Given the description of an element on the screen output the (x, y) to click on. 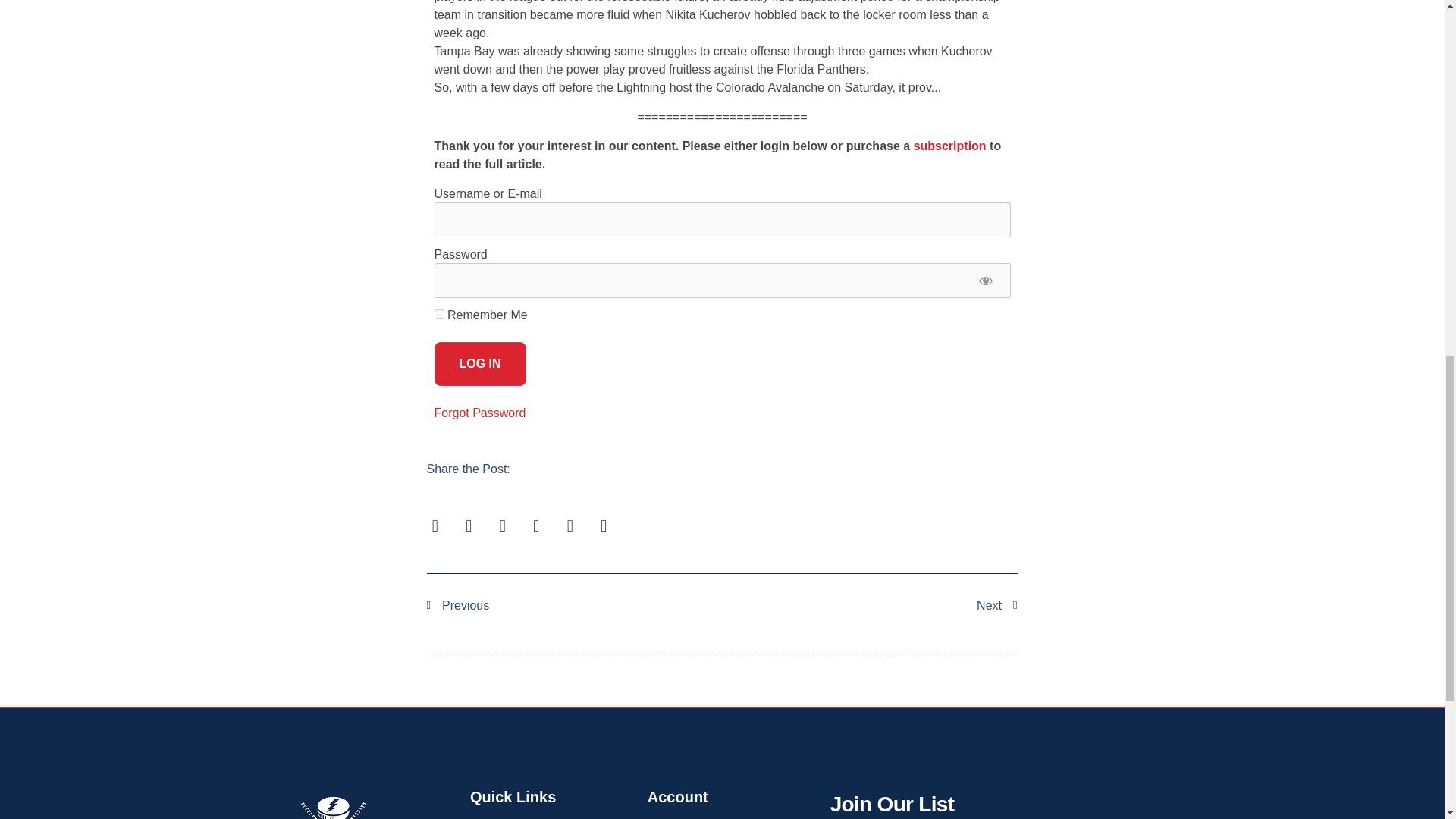
Log In (479, 363)
Previous (574, 606)
Next (869, 606)
Forgot Password (479, 412)
forever (438, 314)
subscription (950, 145)
Log In (479, 363)
